Given the description of an element on the screen output the (x, y) to click on. 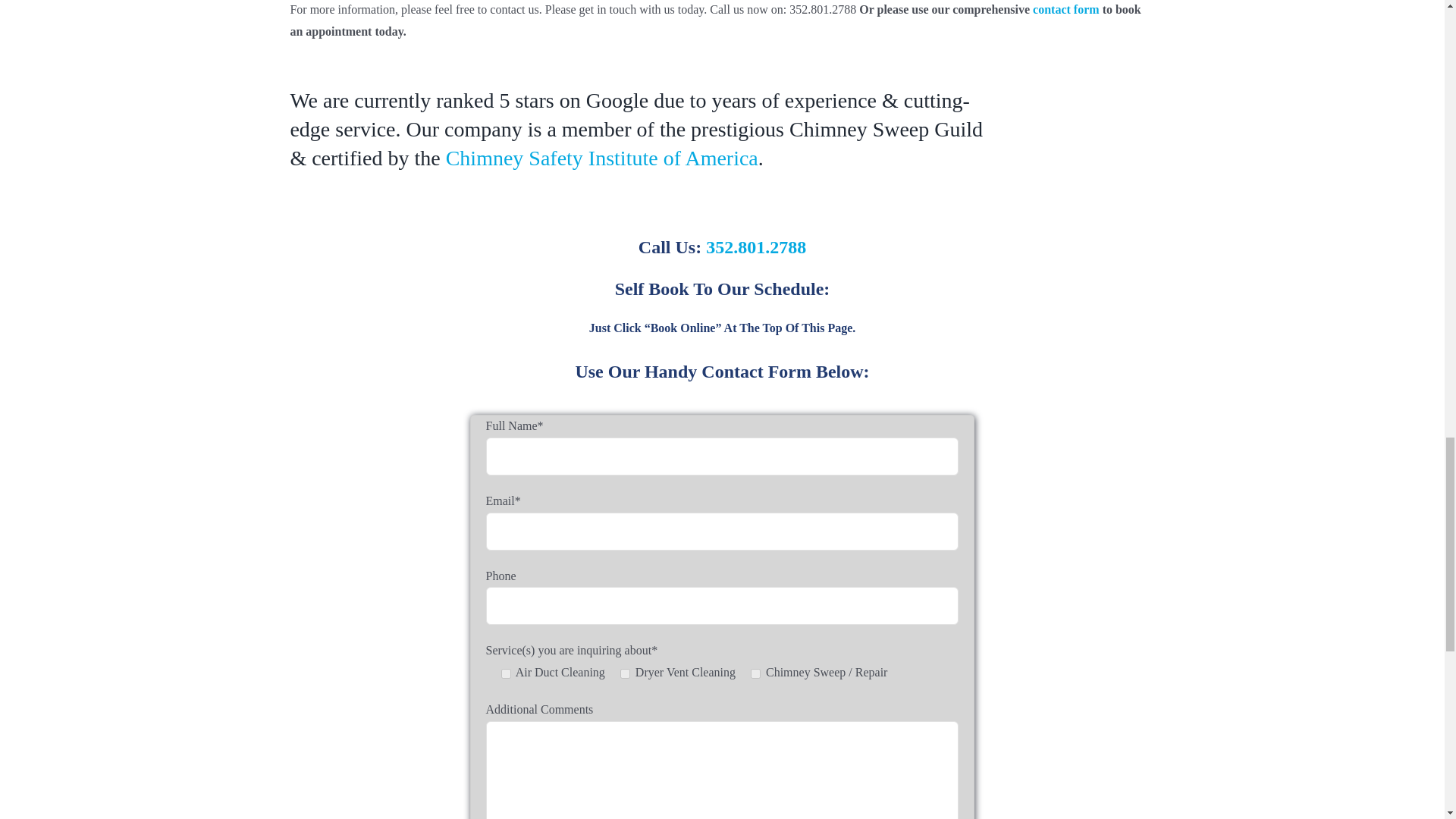
Air Duct Cleaning (505, 673)
Dryer Vent Cleaning (625, 673)
Chimney Safety Institute of America (601, 157)
contact form (1065, 9)
352.801.2788 (756, 247)
